Given the description of an element on the screen output the (x, y) to click on. 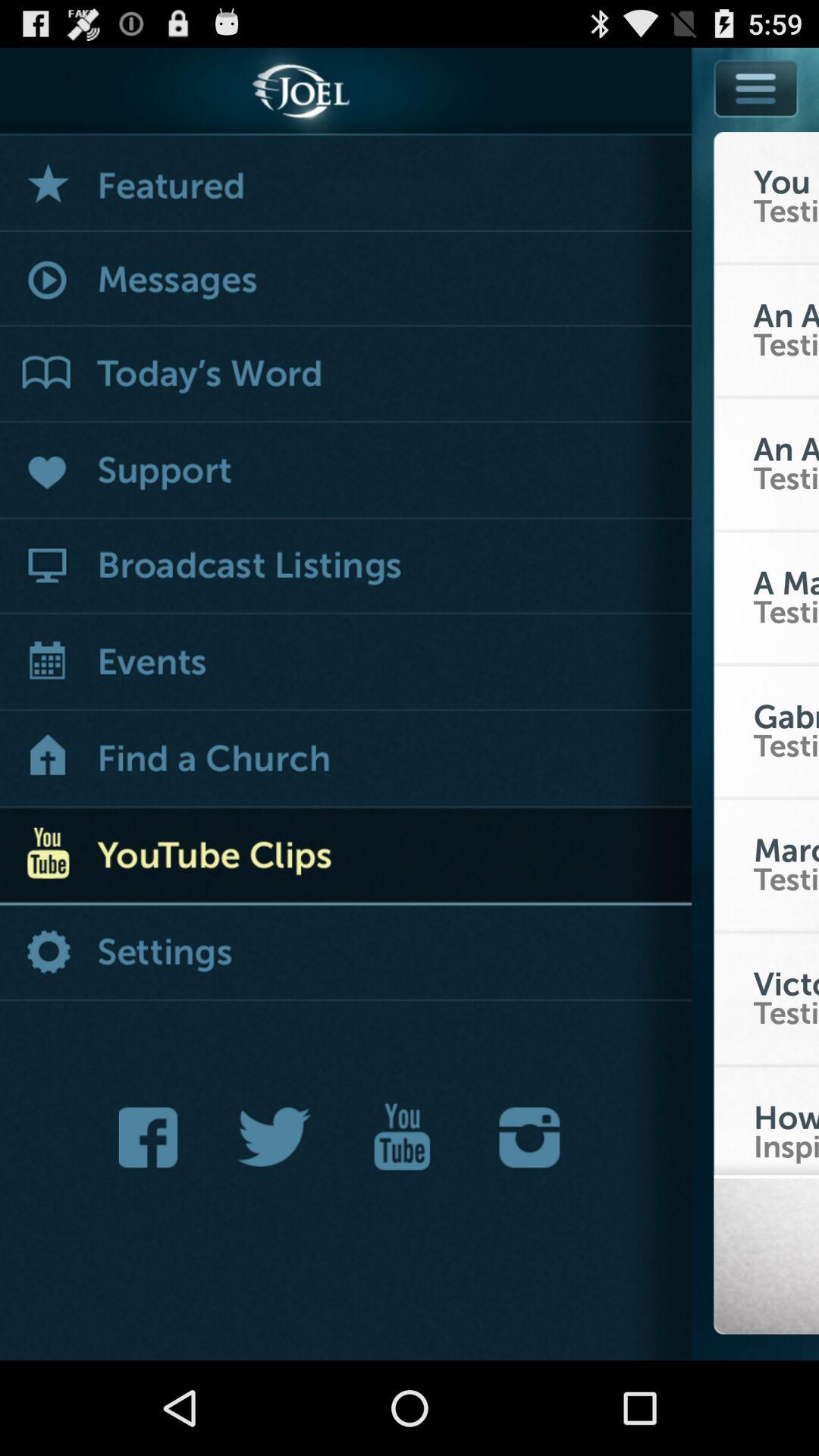
watch youtube videos (345, 856)
